Given the description of an element on the screen output the (x, y) to click on. 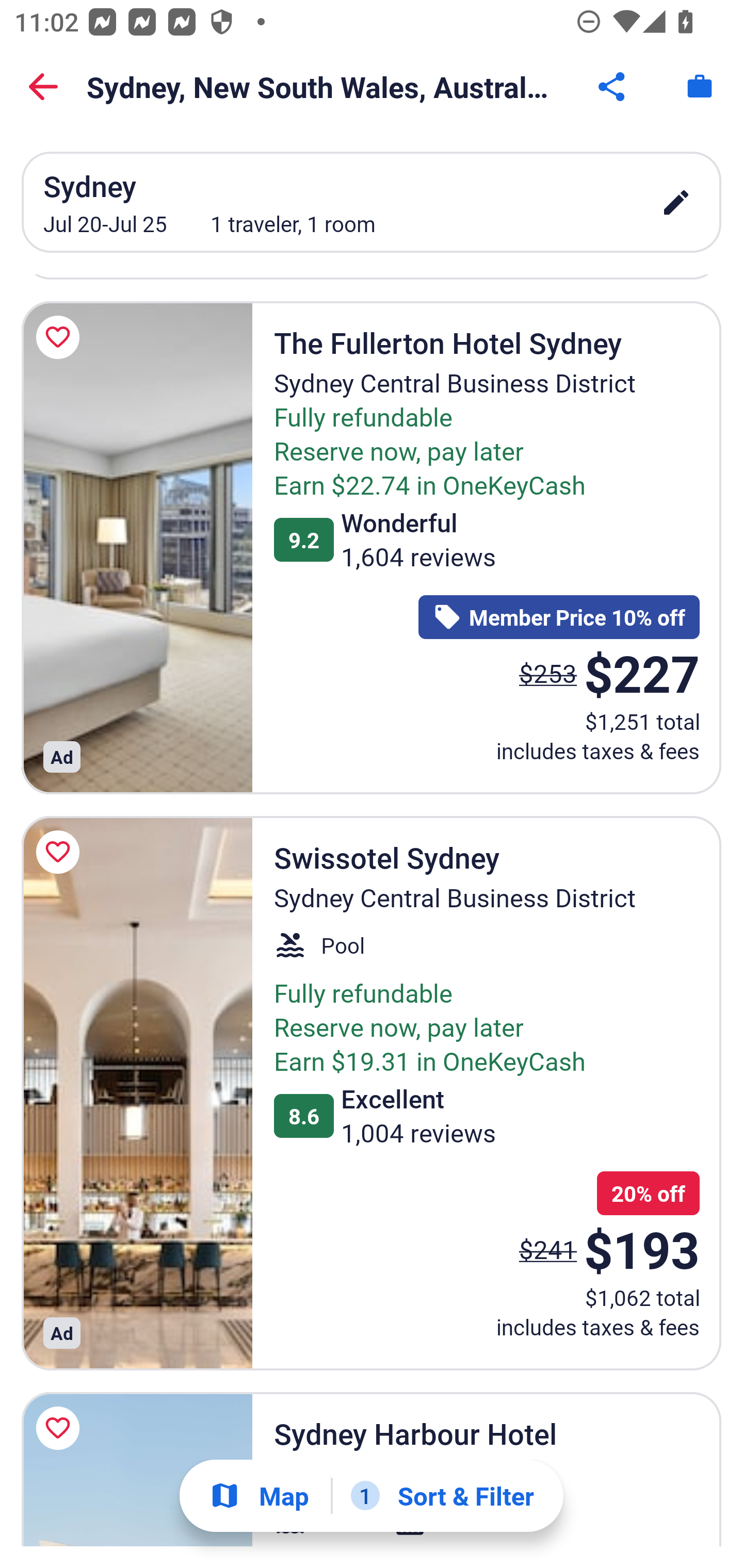
Back (43, 86)
Share Button (612, 86)
Trips. Button (699, 86)
Sydney Jul 20-Jul 25 1 traveler, 1 room edit (371, 202)
Save The Fullerton Hotel Sydney to a trip (61, 337)
The Fullerton Hotel Sydney (136, 547)
$253 The price was $253 (547, 673)
Save Swissotel Sydney to a trip (61, 852)
Swissotel Sydney (136, 1092)
$241 The price was $241 (547, 1248)
Save Sydney Harbour Hotel to a trip (61, 1427)
1 Sort & Filter 1 Filter applied. Filters Button (442, 1495)
Show map Map Show map Button (258, 1495)
